Given the description of an element on the screen output the (x, y) to click on. 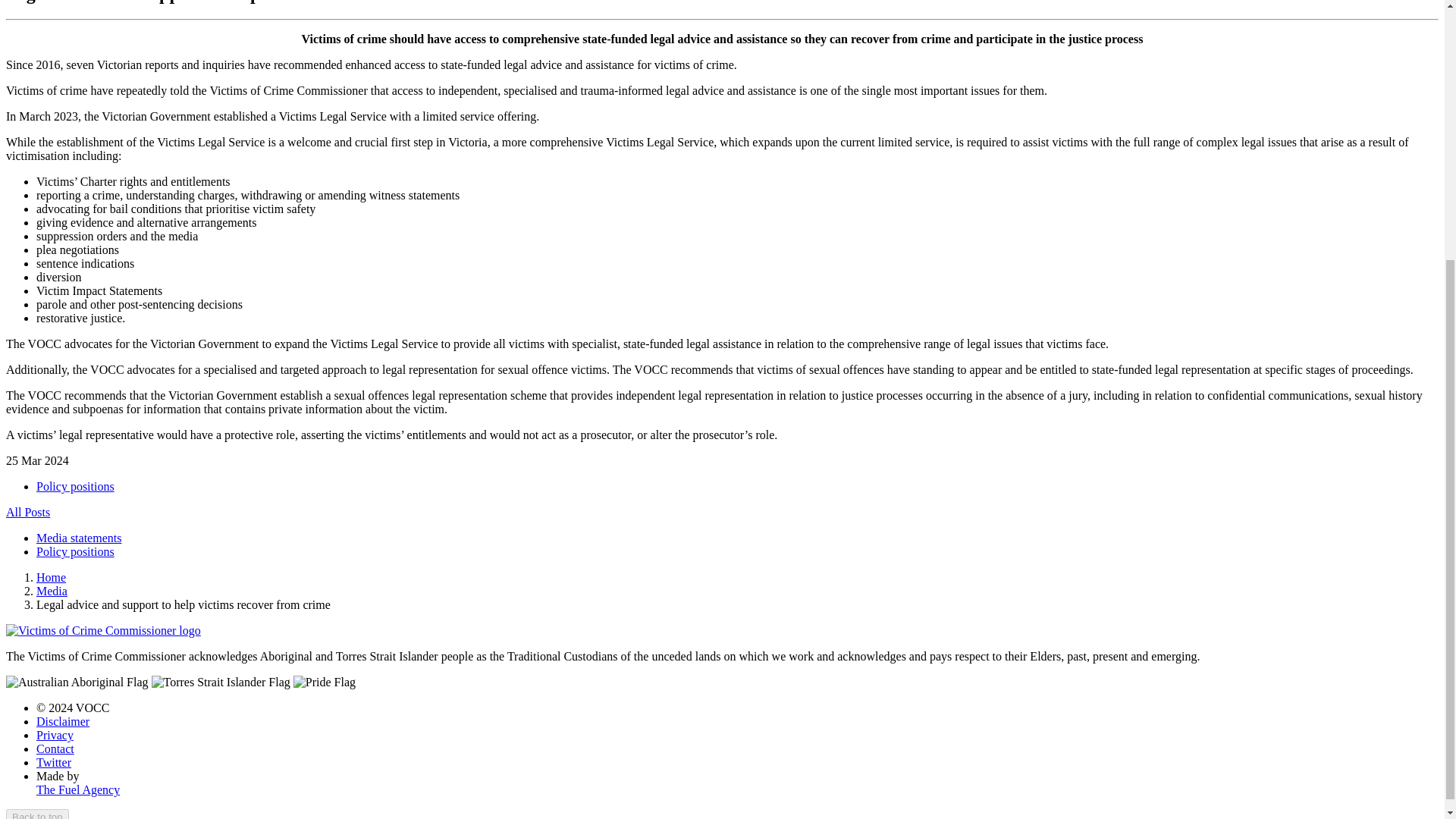
Policy positions (75, 551)
Policy positions (75, 486)
Media (51, 590)
Home (50, 576)
Twitter (53, 762)
Contact (55, 748)
Media statements (78, 537)
All Posts (27, 512)
The Fuel Agency (77, 789)
Privacy (55, 735)
Policy positions (75, 486)
Disclaimer (62, 721)
